Given the description of an element on the screen output the (x, y) to click on. 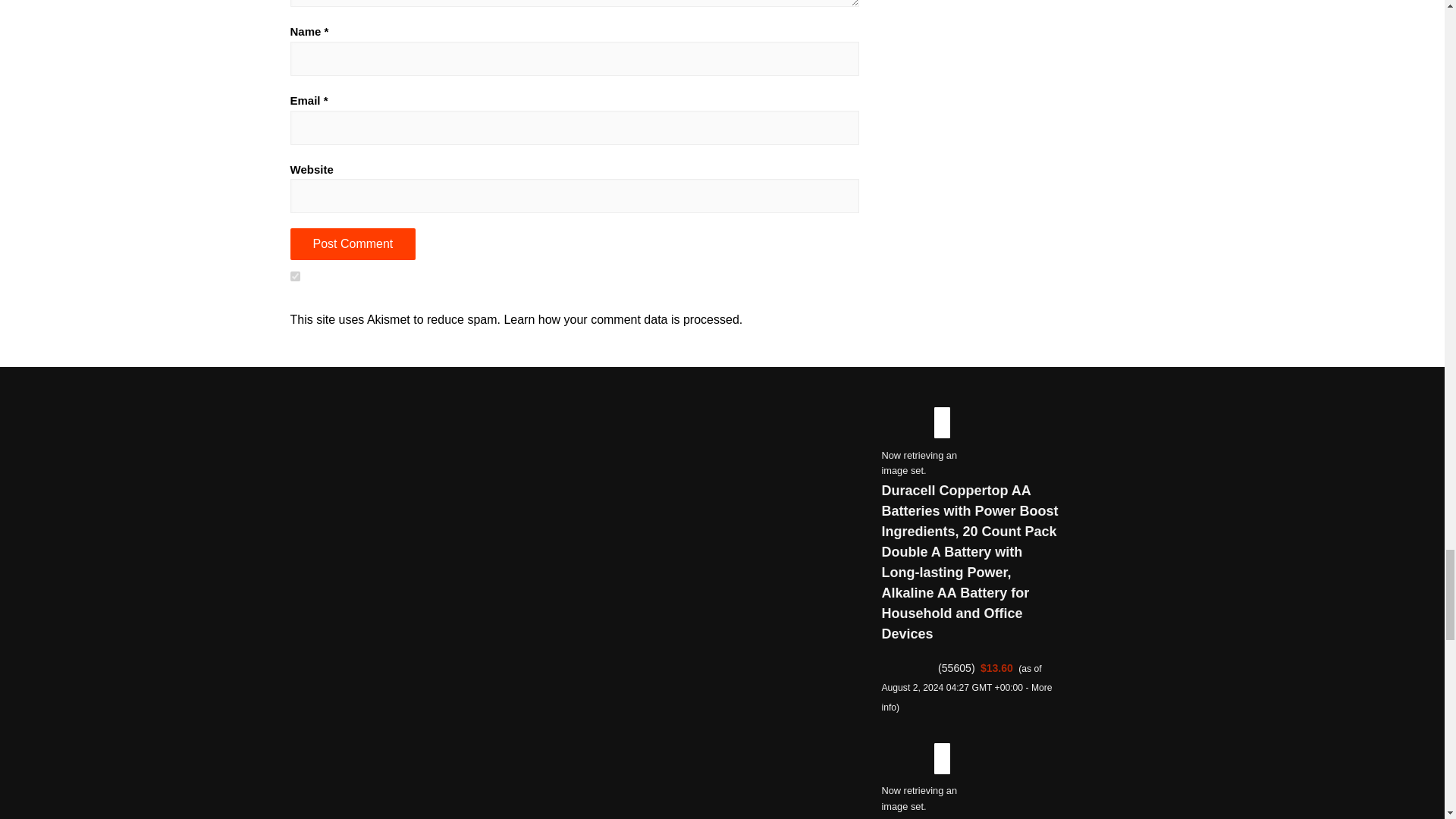
on (294, 276)
Post Comment (351, 244)
